Given the description of an element on the screen output the (x, y) to click on. 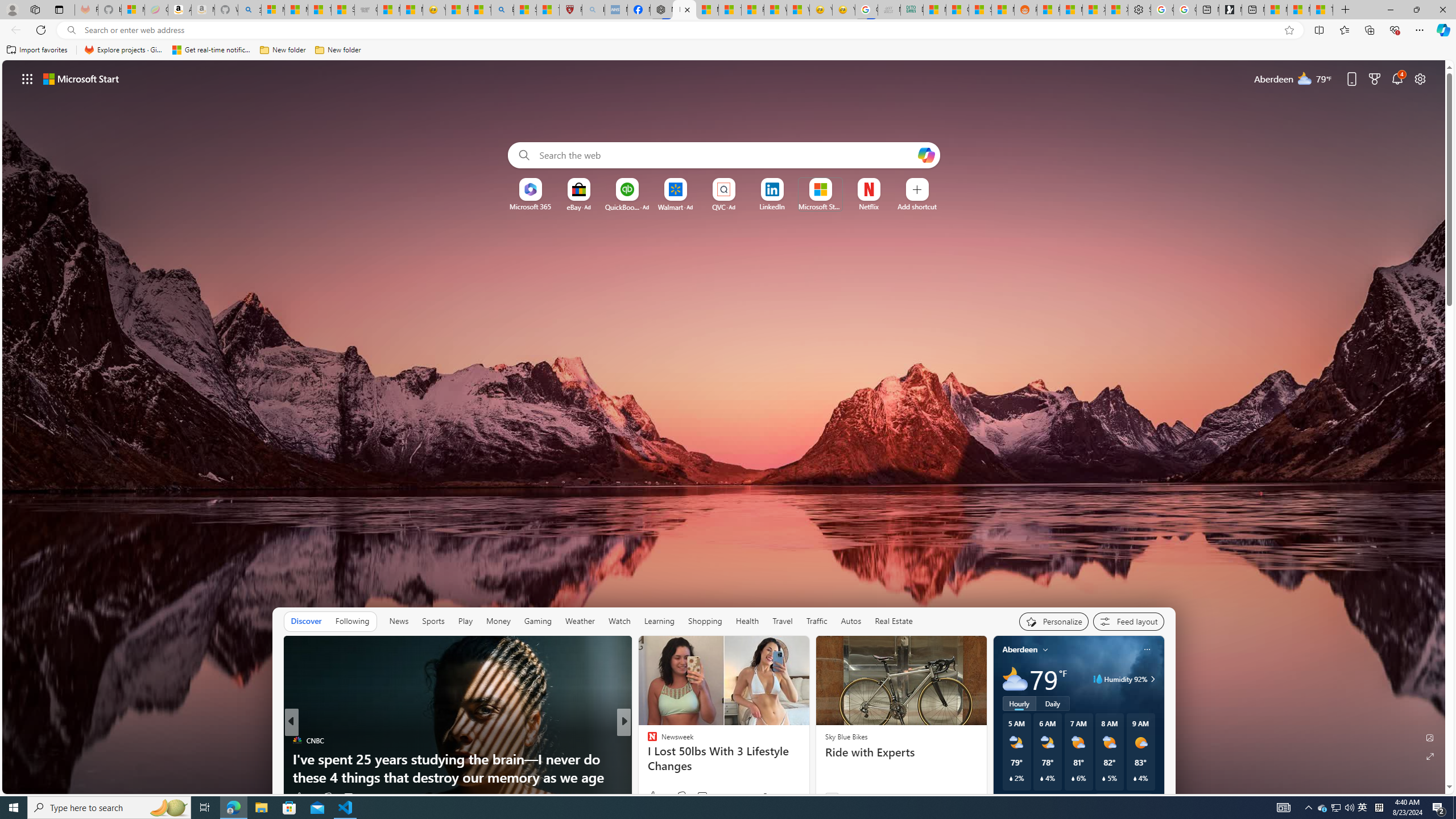
Investing.com (647, 740)
Constative (647, 740)
146 Like (654, 796)
